Given the description of an element on the screen output the (x, y) to click on. 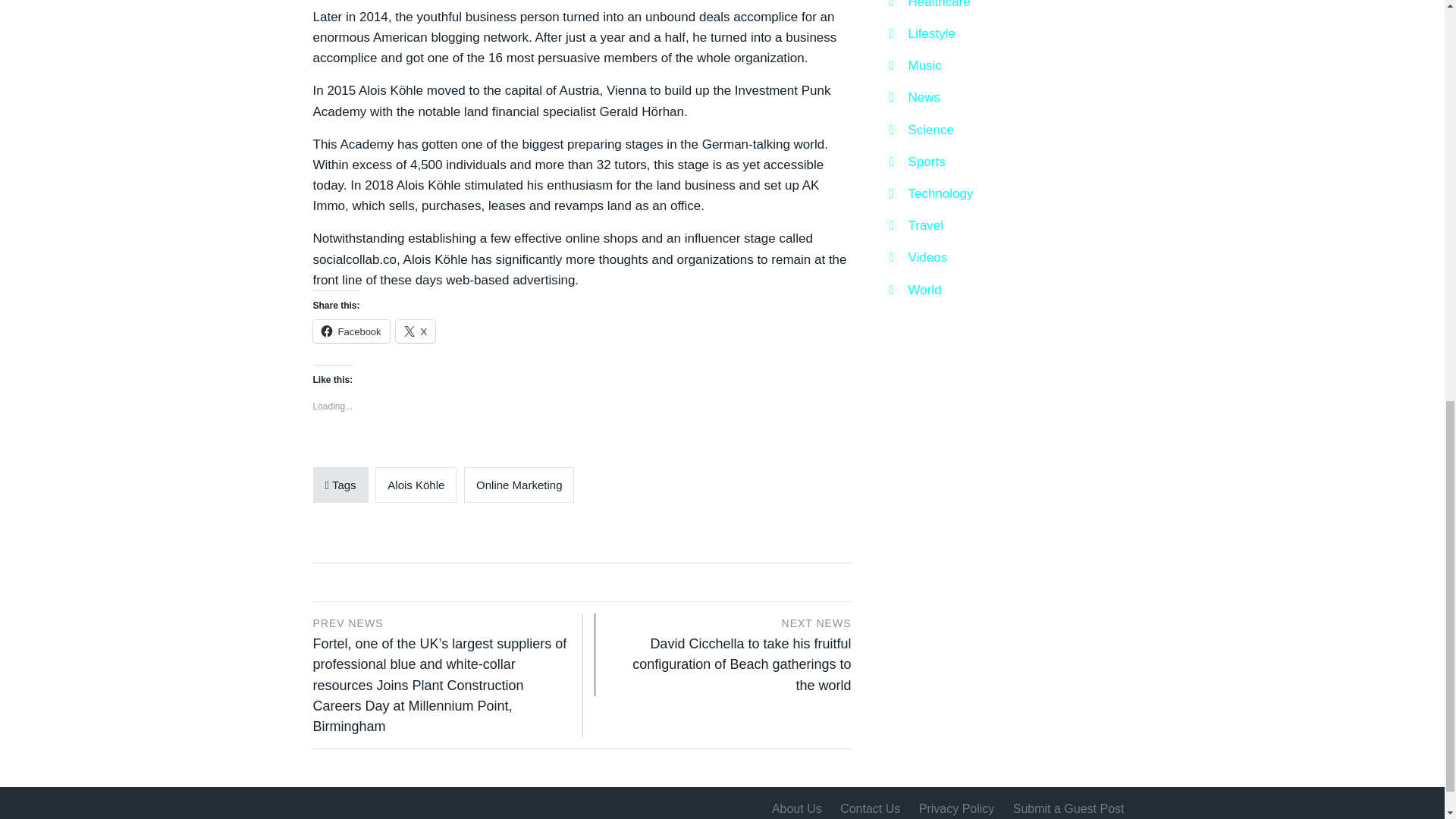
Click to share on Facebook (350, 331)
X (415, 331)
Facebook (350, 331)
Lifestyle (921, 33)
Music (914, 65)
Healthcare (928, 6)
Online Marketing (518, 484)
Click to share on X (415, 331)
